Given the description of an element on the screen output the (x, y) to click on. 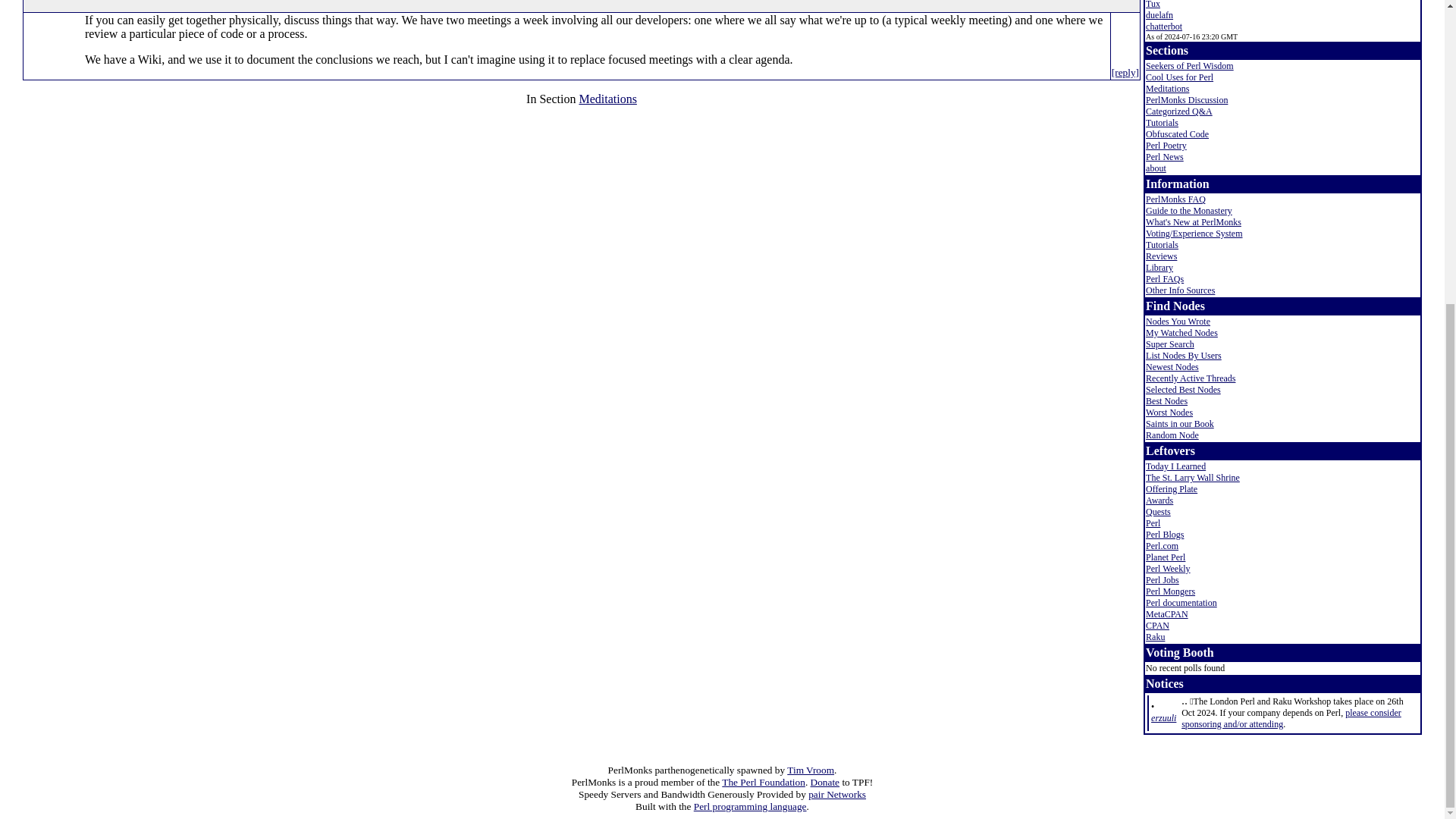
chatterbot's home node. Level 1 (1163, 26)
Tux's home node. Level 20 (1152, 4)
duelafn's home node. Level 16 (1159, 14)
2024-05-30 14:23:36 (1163, 717)
Meditations (607, 98)
